Given the description of an element on the screen output the (x, y) to click on. 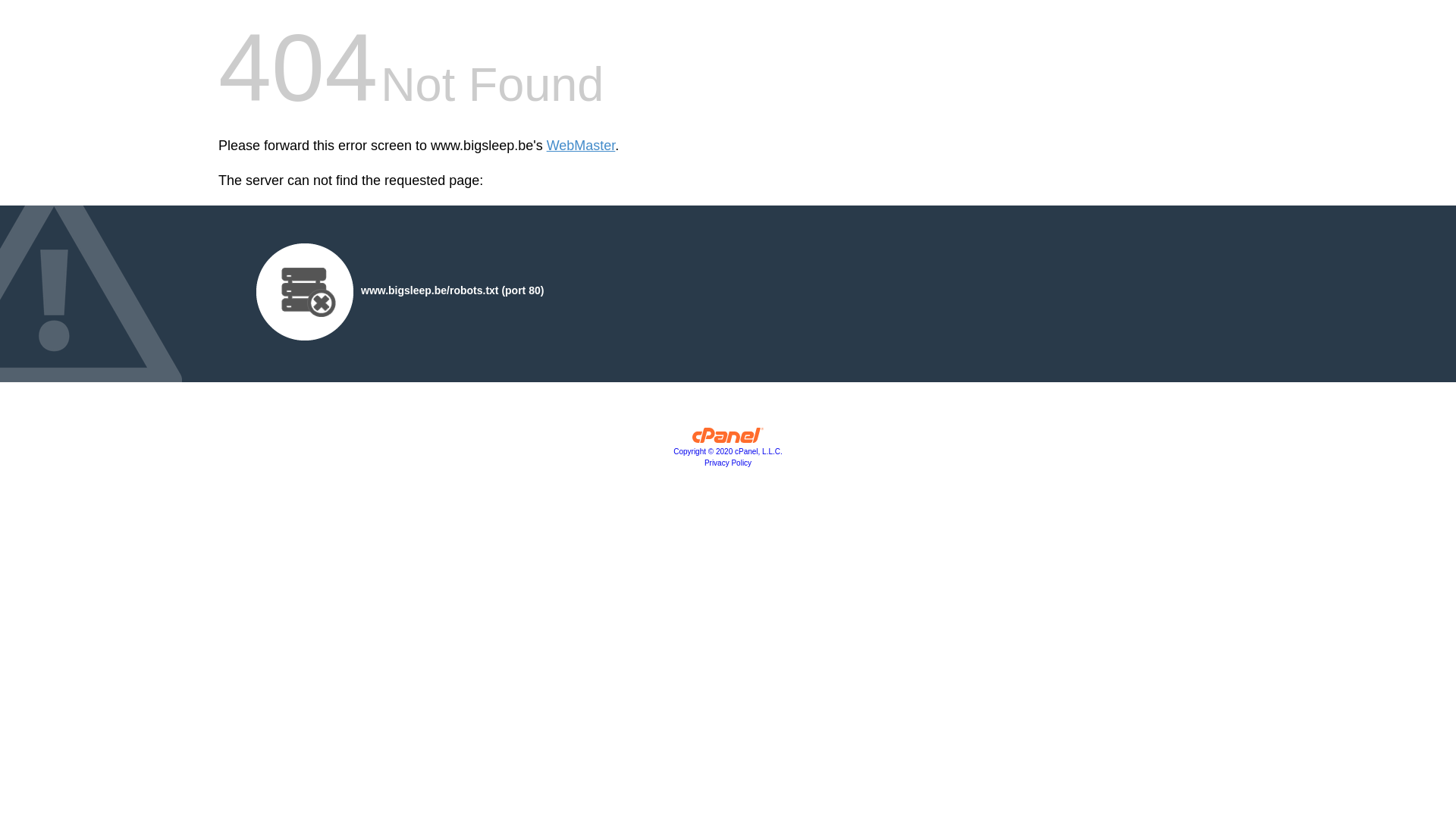
Privacy Policy Element type: text (727, 462)
cPanel, Inc. Element type: hover (728, 439)
WebMaster Element type: text (580, 145)
